Given the description of an element on the screen output the (x, y) to click on. 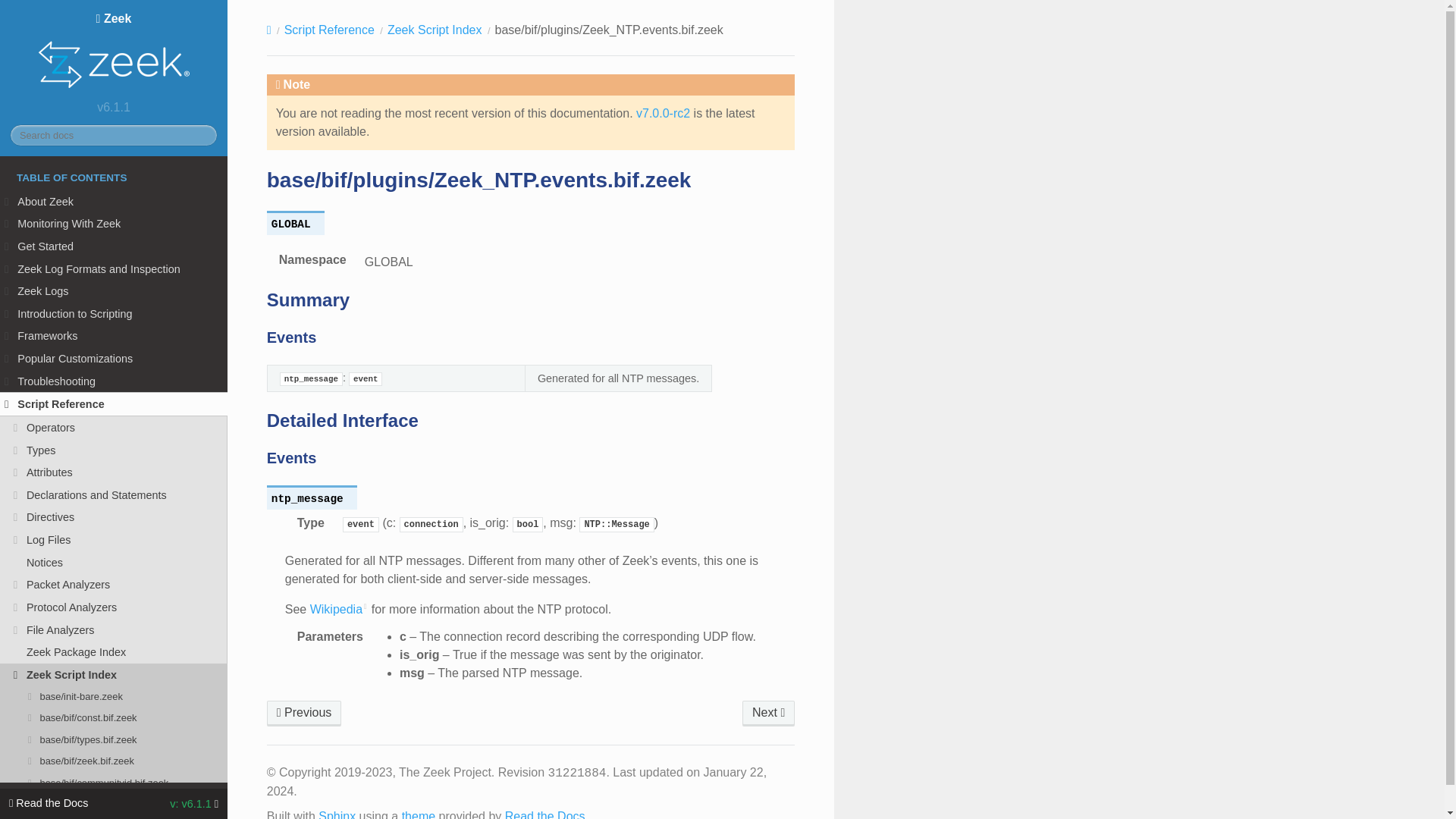
Get Started (113, 246)
Monitoring With Zeek (113, 223)
About Zeek (113, 201)
Zeek (114, 52)
